Given the description of an element on the screen output the (x, y) to click on. 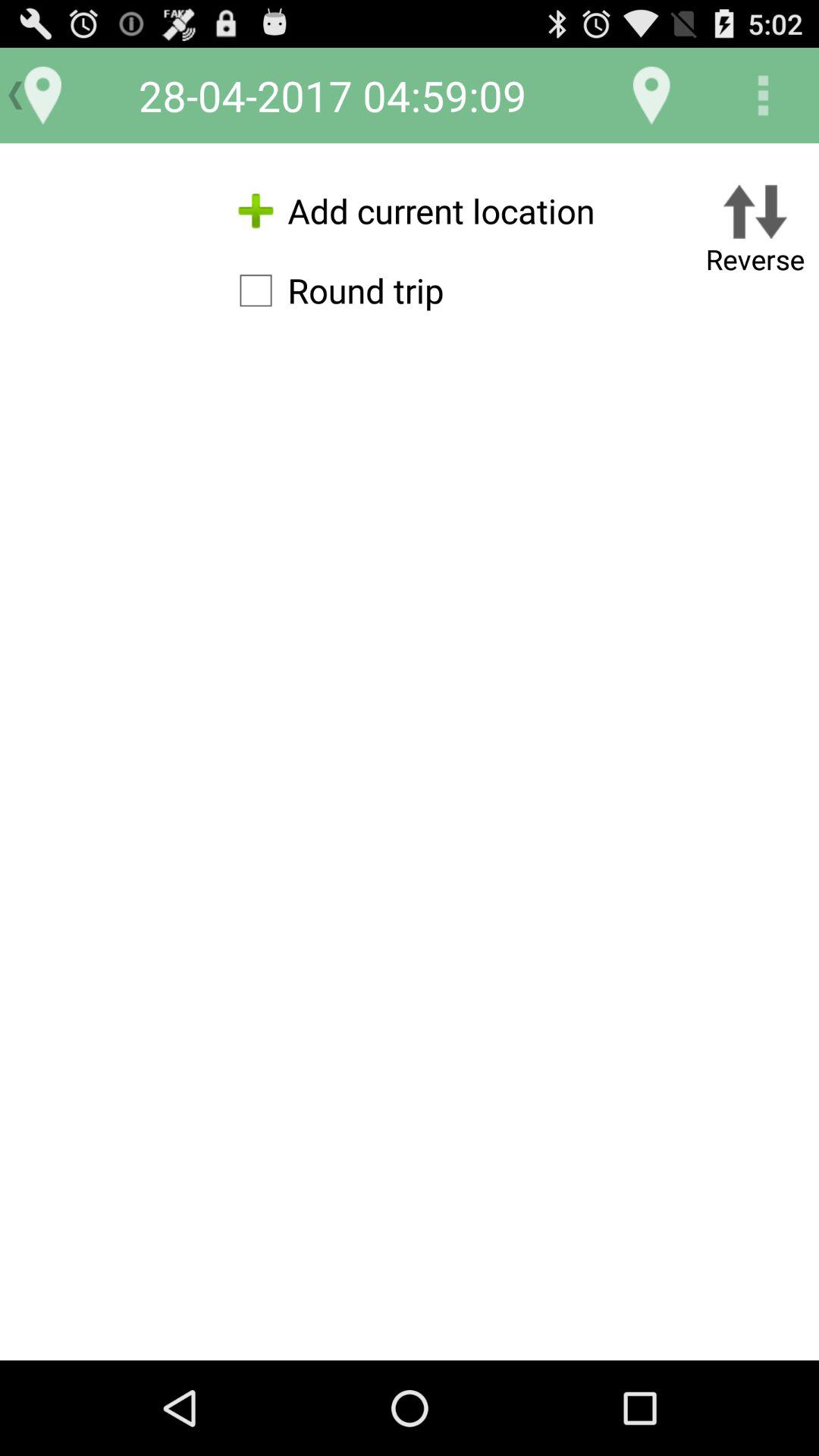
turn off icon to the left of the reverse item (409, 210)
